Given the description of an element on the screen output the (x, y) to click on. 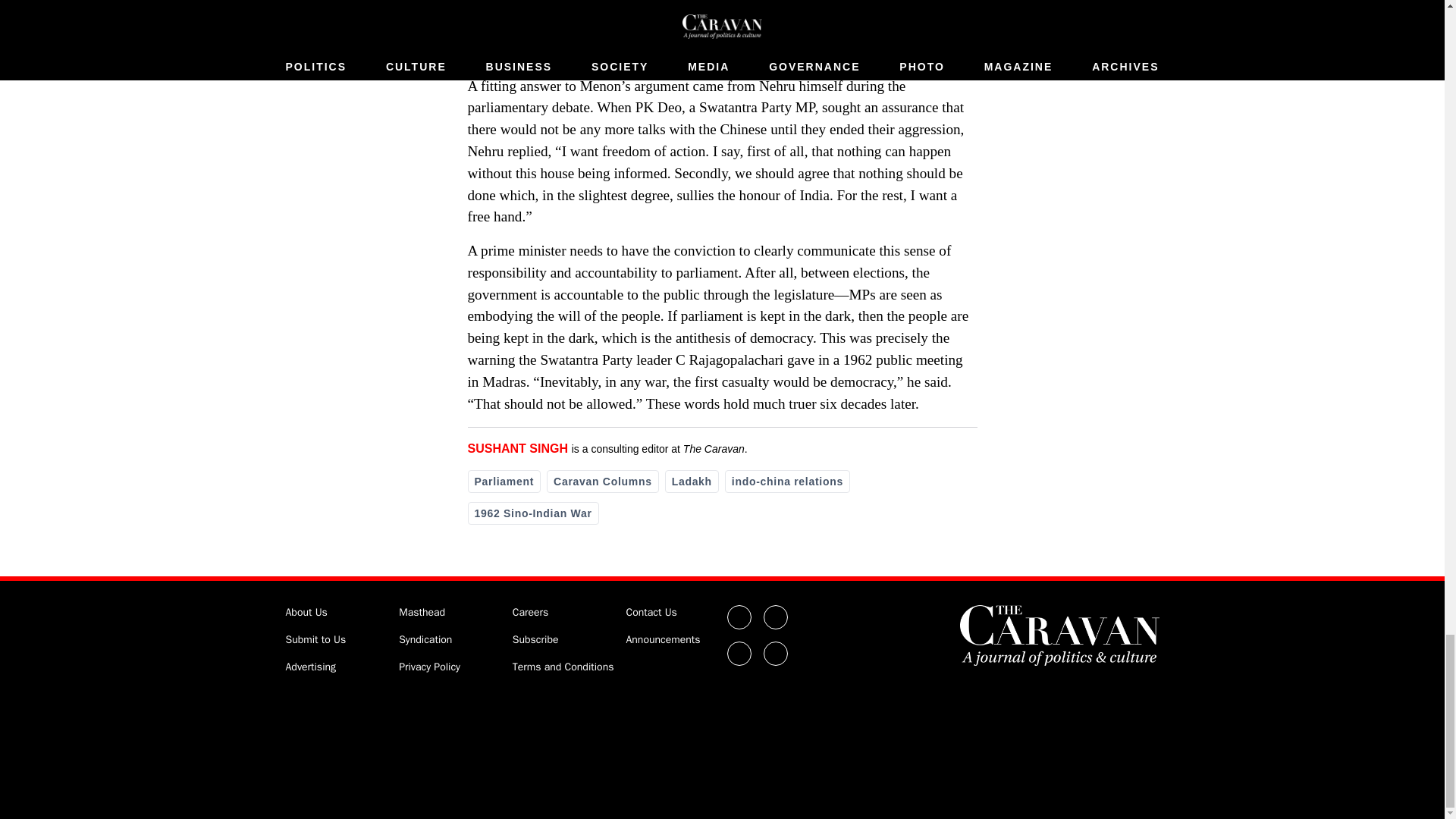
indo-china relations (787, 481)
Parliament (503, 481)
Announcements (663, 639)
SUSHANT SINGH (517, 448)
Ladakh (692, 481)
Caravan Columns (603, 481)
Advertising (310, 666)
Contact Us (651, 612)
About Us (305, 612)
Careers (530, 612)
Syndication (424, 639)
Masthead (421, 612)
Submit to Us (315, 639)
Privacy Policy (429, 666)
Subscribe (535, 639)
